Given the description of an element on the screen output the (x, y) to click on. 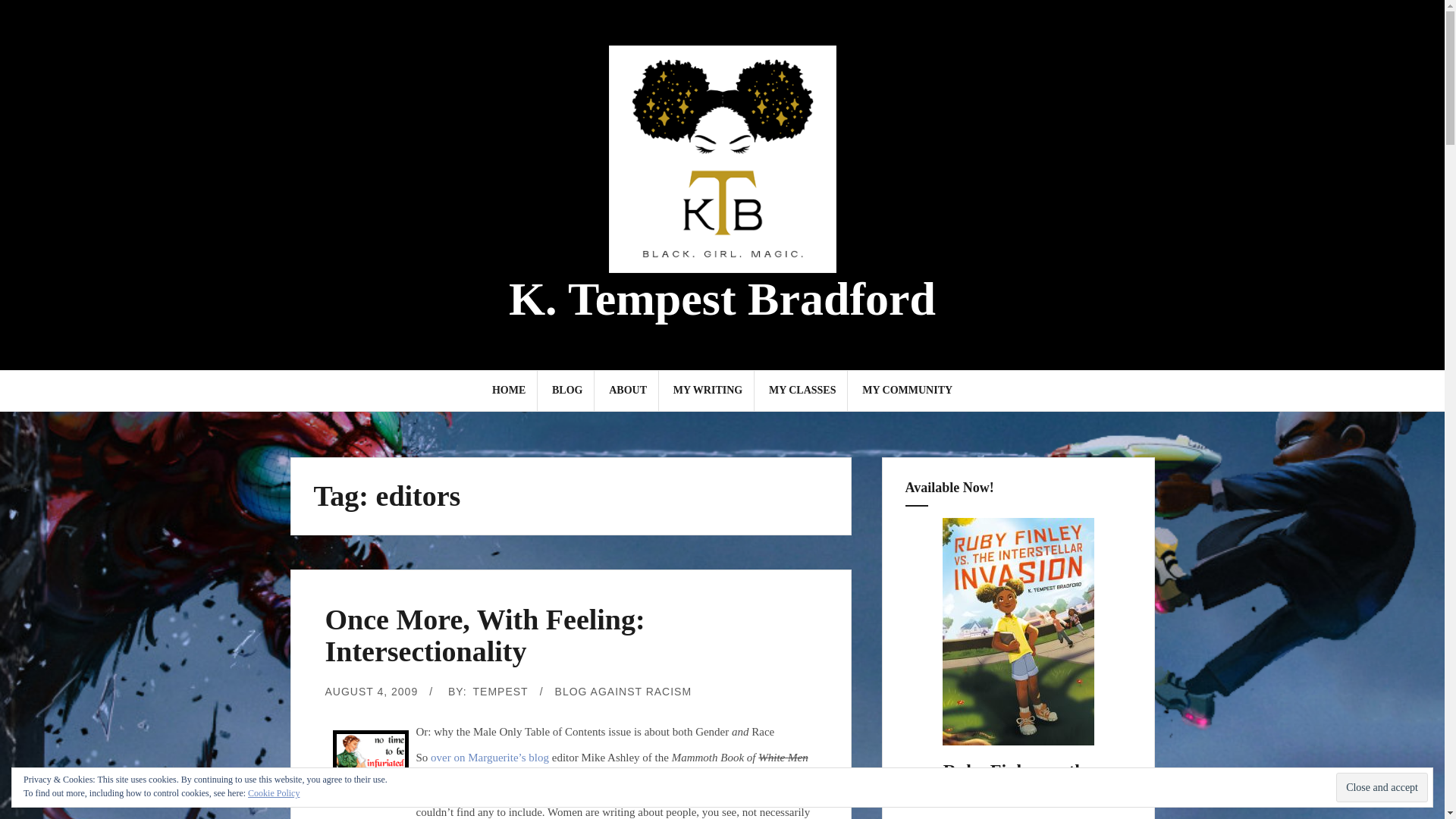
Search (28, 20)
K. Tempest Bradford (722, 298)
TEMPEST (500, 691)
BLOG AGAINST RACISM (623, 691)
MY CLASSES (801, 390)
Close and accept (1382, 787)
MY COMMUNITY (906, 390)
MY WRITING (707, 390)
HOME (508, 390)
Once More, With Feeling: Intersectionality (484, 635)
BLOG (566, 390)
AUGUST 4, 2009 (370, 691)
ABOUT (627, 390)
